Given the description of an element on the screen output the (x, y) to click on. 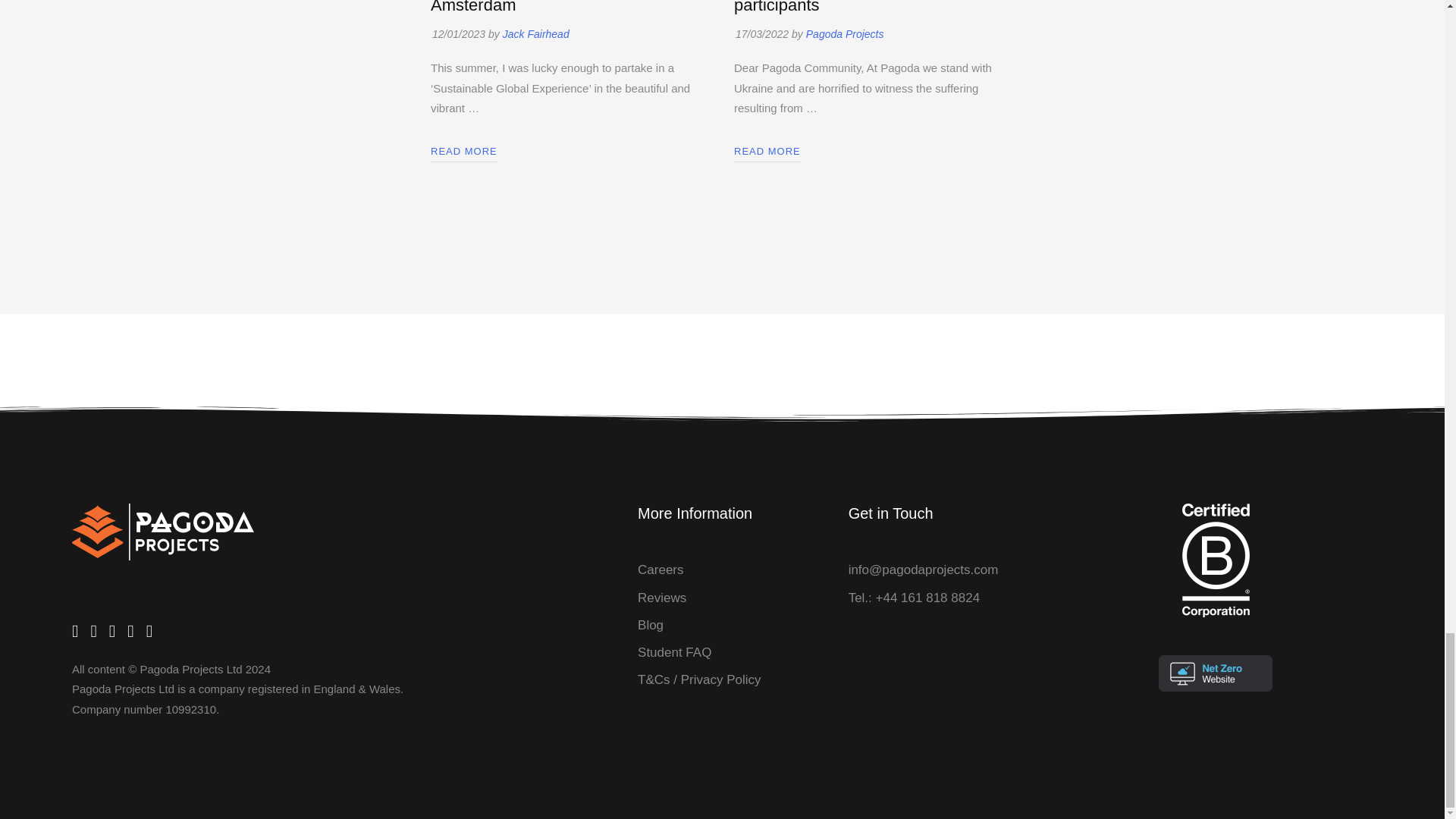
READ MORE (766, 150)
READ MORE (463, 150)
Pagoda Projects (844, 33)
Jack Fairhead (535, 33)
